Given the description of an element on the screen output the (x, y) to click on. 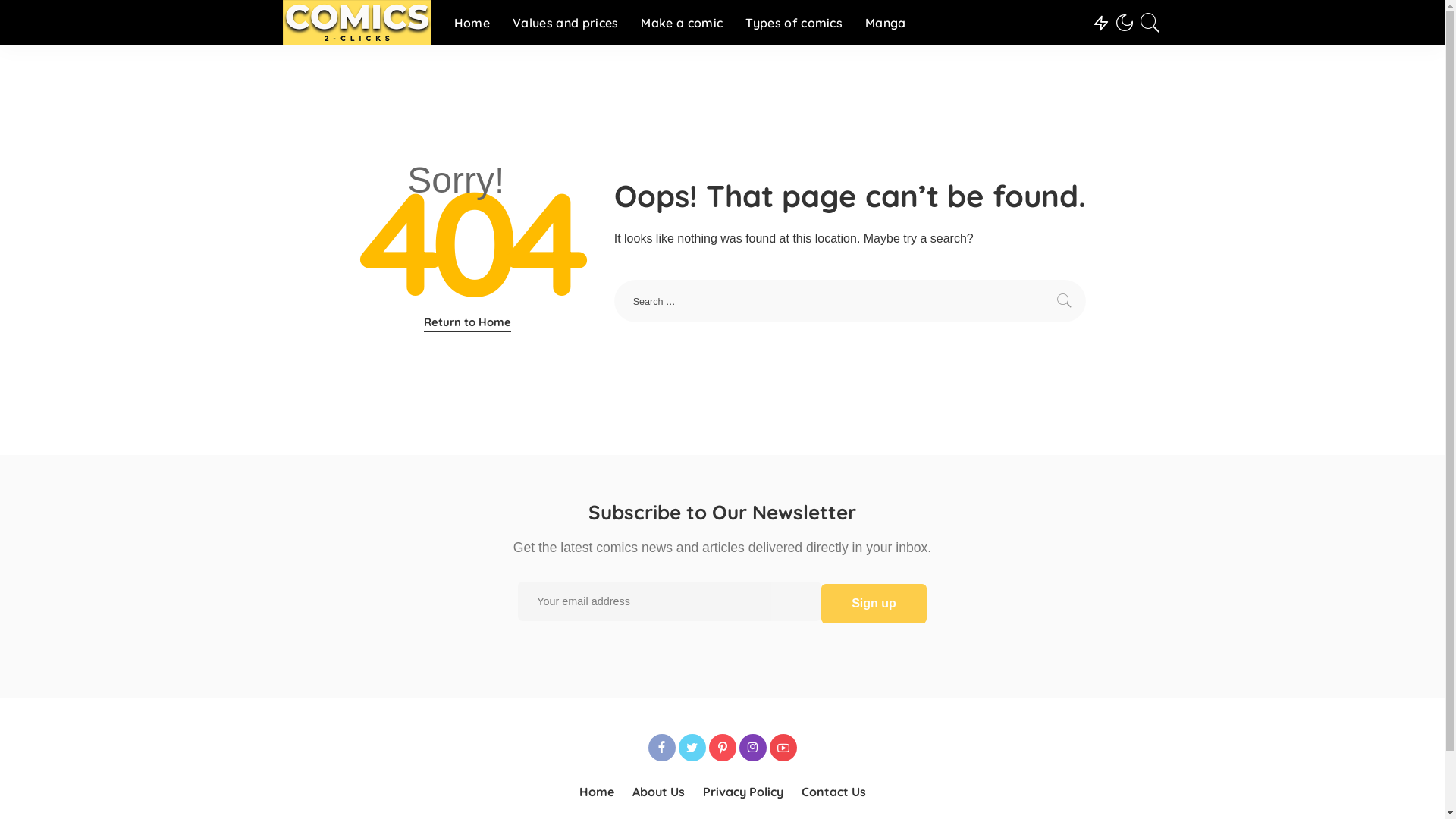
Return to Home Element type: text (467, 322)
Search Element type: text (1064, 300)
Privacy Policy Element type: text (742, 791)
Sign up Element type: text (873, 603)
Values and prices Element type: text (565, 22)
Home Element type: text (596, 791)
Home Element type: text (471, 22)
2-Clicks Comics Element type: hover (356, 22)
Make a comic Element type: text (681, 22)
Types of comics Element type: text (793, 22)
About Us Element type: text (658, 791)
Manga Element type: text (885, 22)
Contact Us Element type: text (832, 791)
Search Element type: text (1140, 65)
